Given the description of an element on the screen output the (x, y) to click on. 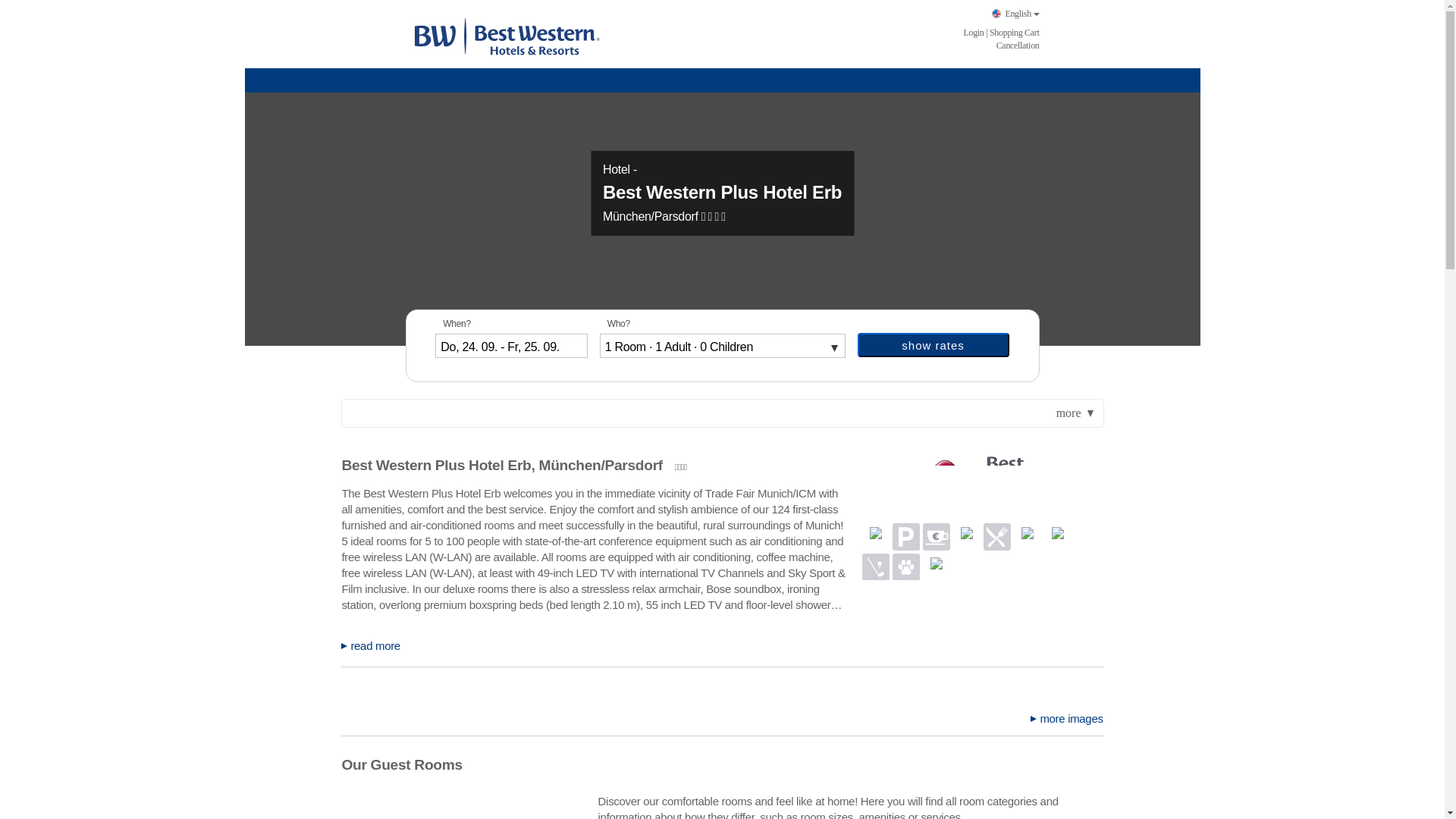
Login (973, 32)
show rates (933, 344)
Shopping Cart (1014, 32)
Cancellation (1017, 45)
Your basket is empty.  (1014, 32)
English   (1015, 13)
Best Western Hotels (505, 35)
Cancellation (1017, 45)
